Given the description of an element on the screen output the (x, y) to click on. 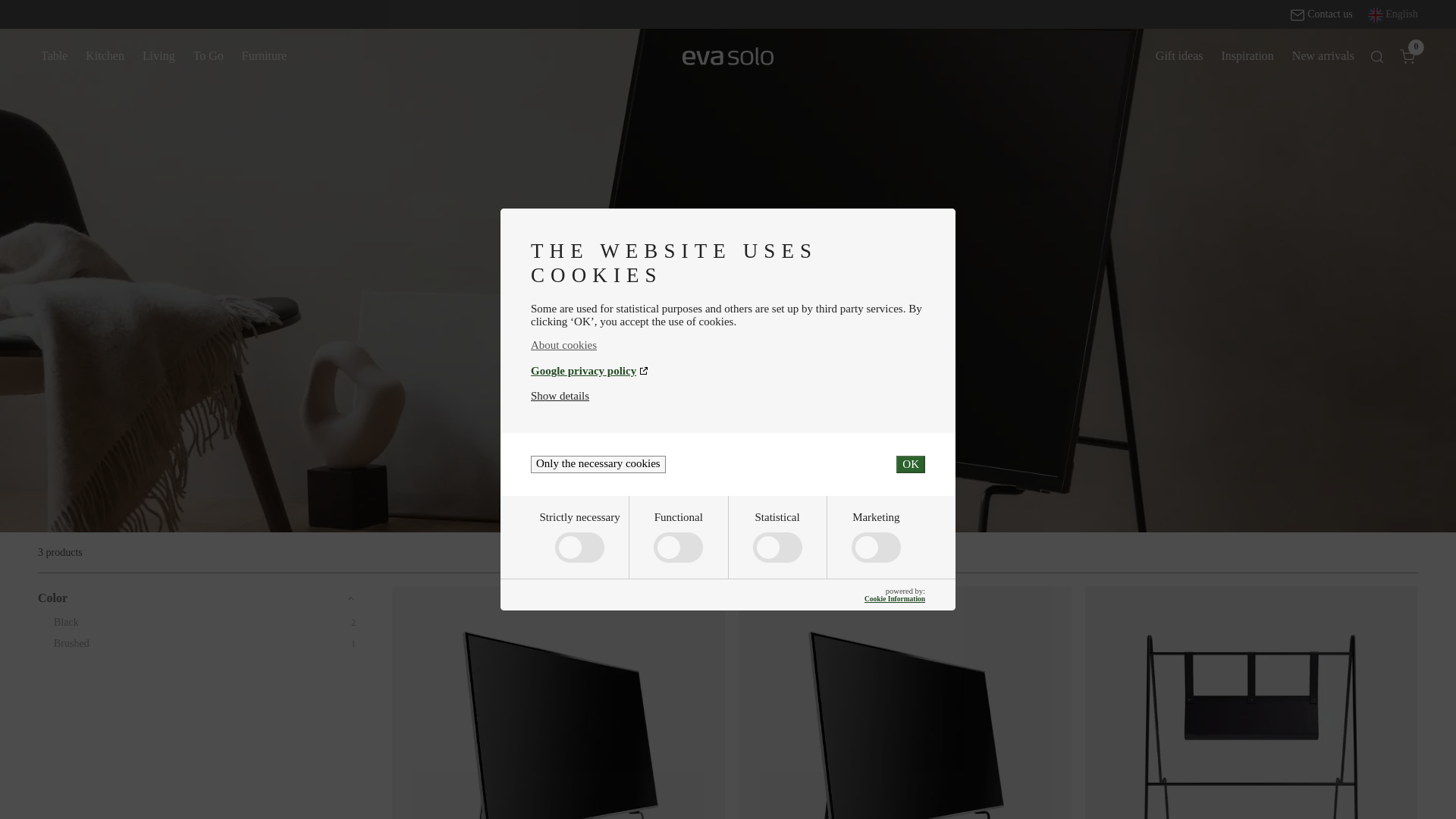
About cookies (727, 345)
Google privacy policy (727, 370)
Show details (560, 395)
